Given the description of an element on the screen output the (x, y) to click on. 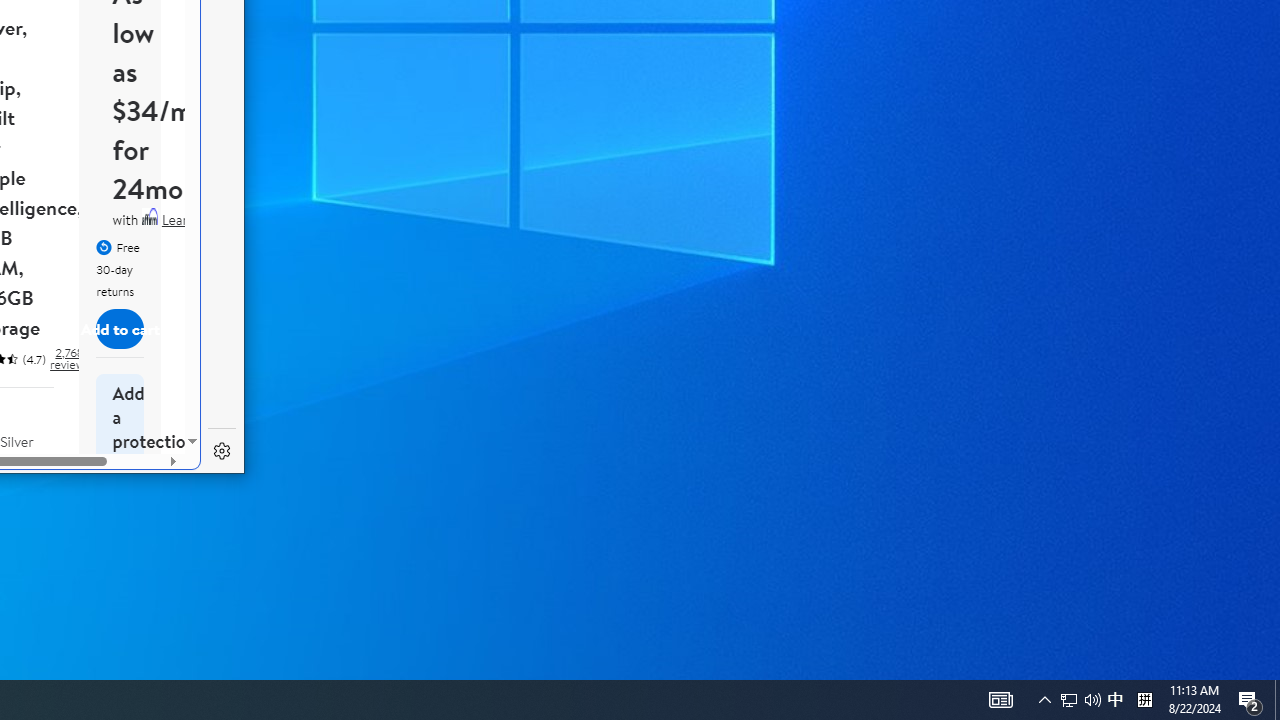
Learn how (192, 220)
Q2790: 100% (1069, 699)
AutomationID: 4105 (1115, 699)
Silver selected, Silver, $649.00 (1092, 699)
Silver (1000, 699)
Notification Chevron (28, 498)
User Promoted Notification Area (28, 483)
selected, Silver, $649.00 (1044, 699)
2,768 reviews (1080, 699)
Action Center, 2 new notifications (28, 498)
Free 30-day returns (67, 358)
